Given the description of an element on the screen output the (x, y) to click on. 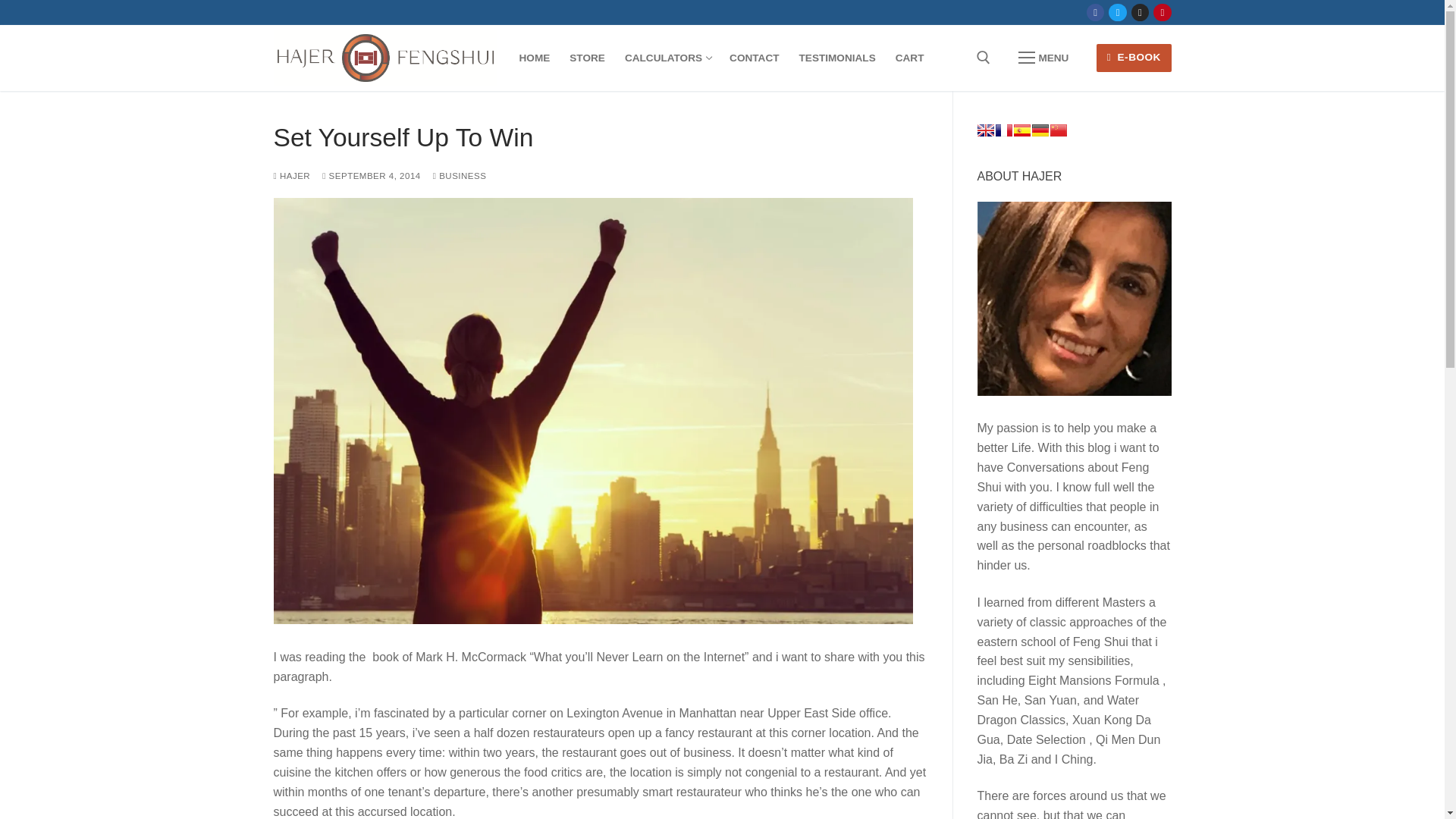
Facebook (1095, 12)
English (984, 130)
STORE (586, 58)
Twitter (1117, 12)
HOME (534, 58)
French (1002, 130)
German (666, 58)
CART (1039, 130)
Spanish (909, 58)
BUSINESS (1021, 130)
SEPTEMBER 4, 2014 (459, 175)
MENU (370, 175)
Chinese Simplified (1043, 58)
HAJER (1057, 130)
